Given the description of an element on the screen output the (x, y) to click on. 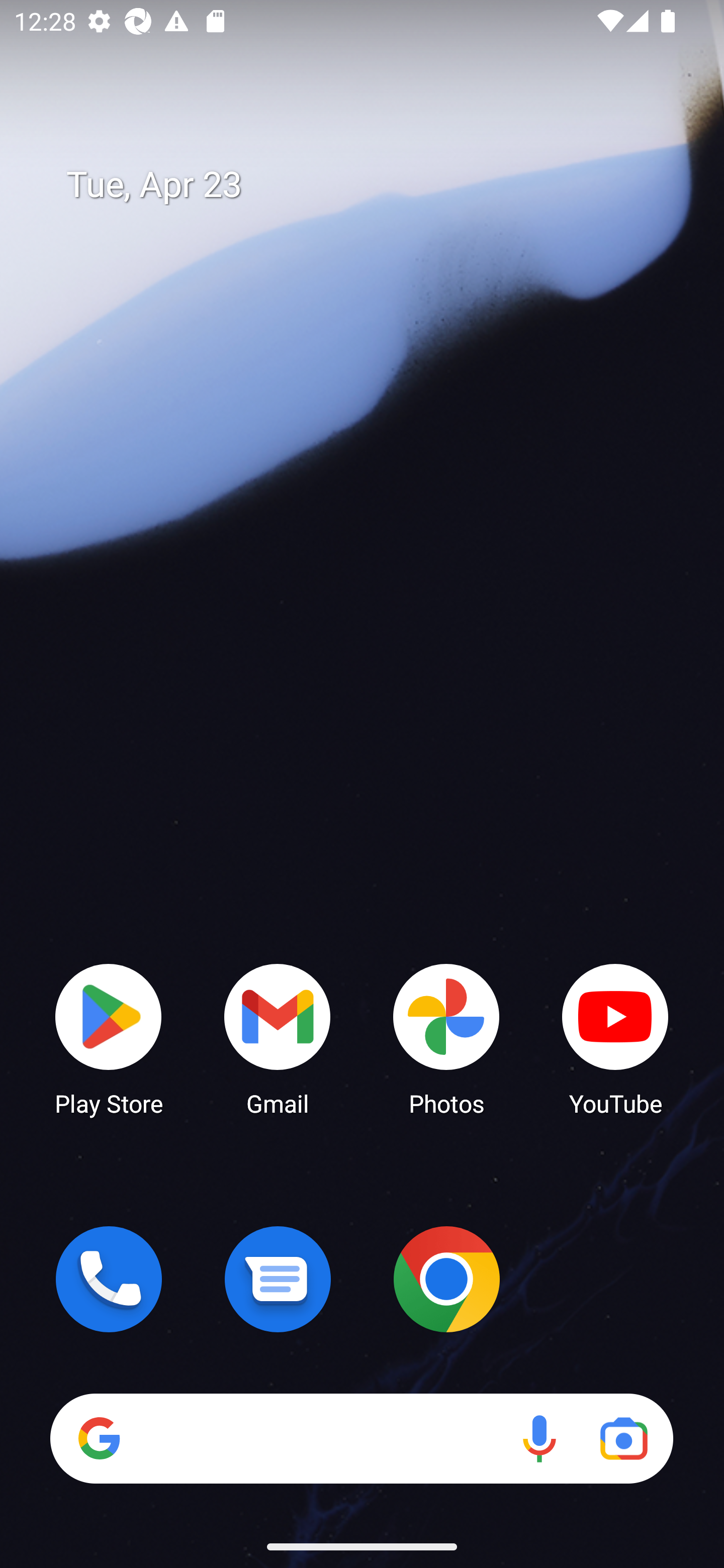
Tue, Apr 23 (375, 184)
Play Store (108, 1038)
Gmail (277, 1038)
Photos (445, 1038)
YouTube (615, 1038)
Phone (108, 1279)
Messages (277, 1279)
Chrome (446, 1279)
Search Voice search Google Lens (361, 1438)
Voice search (539, 1438)
Google Lens (623, 1438)
